Given the description of an element on the screen output the (x, y) to click on. 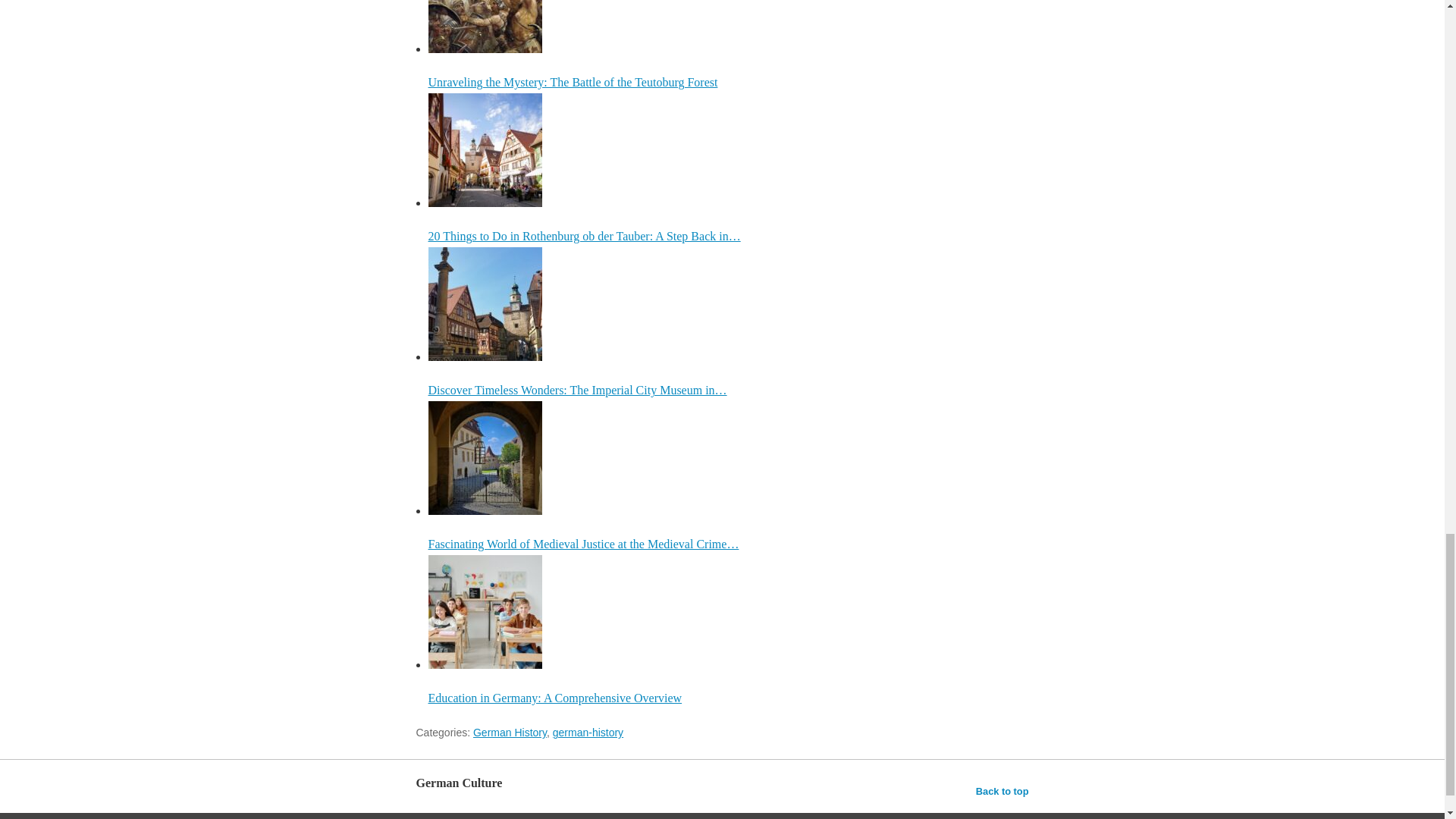
Unraveling the Mystery: The Battle of the Teutoburg Forest (484, 26)
German History (510, 732)
Education in Germany: A Comprehensive Overview (484, 612)
Education in Germany: A Comprehensive Overview (727, 629)
german-history (588, 732)
Back to top (1002, 791)
Unraveling the Mystery: The Battle of the Teutoburg Forest (727, 44)
